Given the description of an element on the screen output the (x, y) to click on. 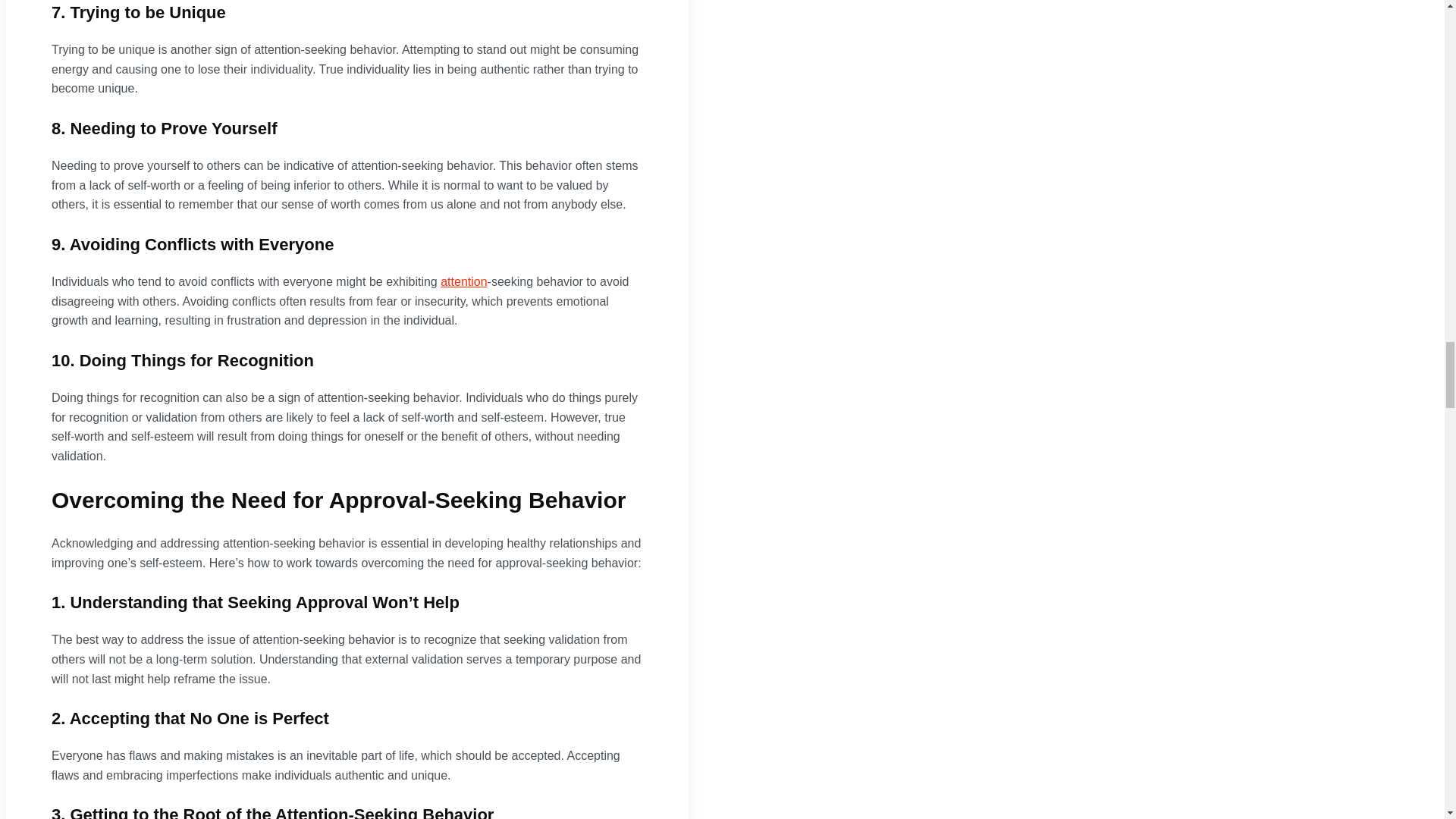
attention (463, 281)
